Given the description of an element on the screen output the (x, y) to click on. 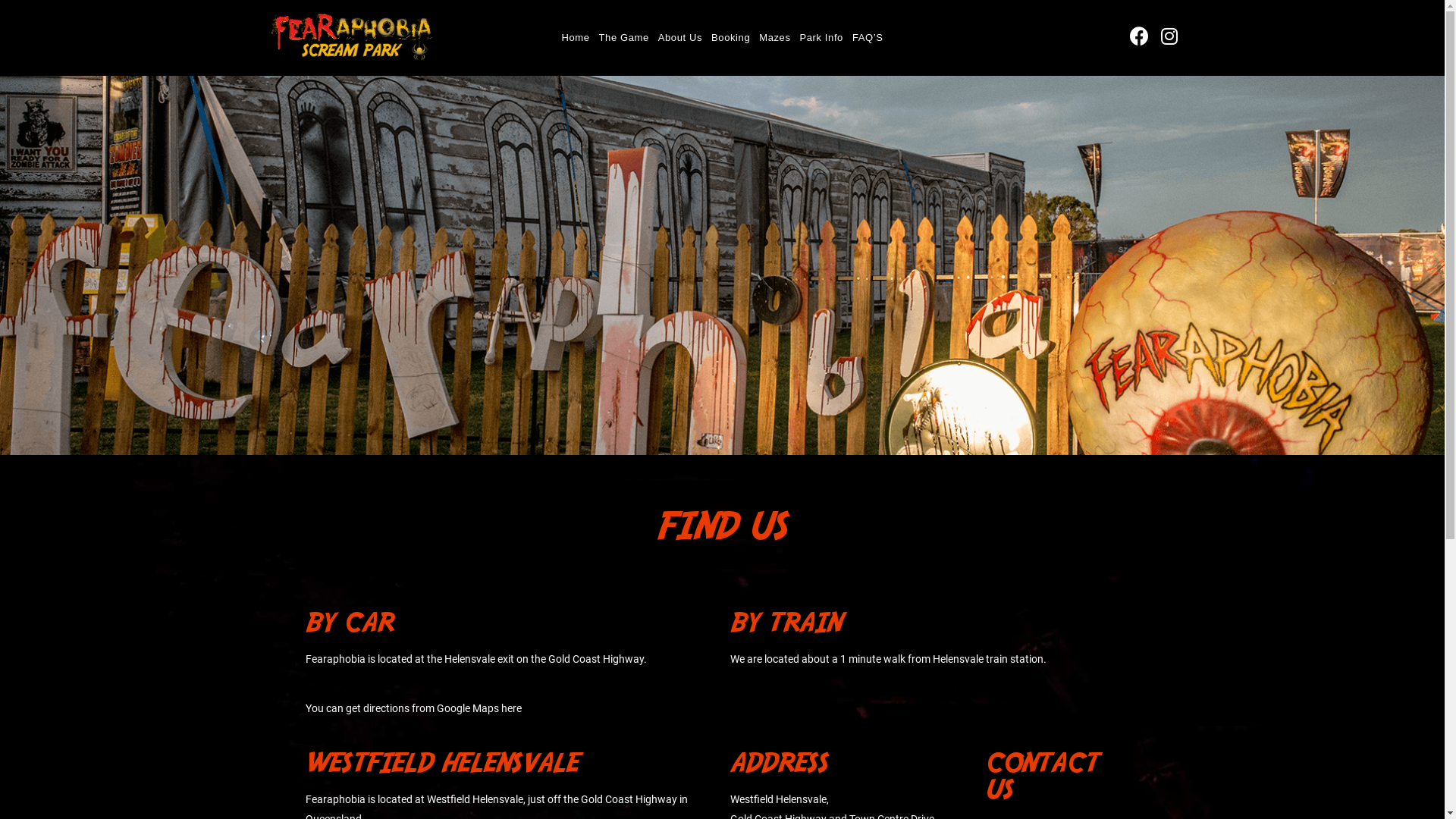
The Game Element type: text (623, 37)
About Us Element type: text (679, 37)
Park Info Element type: text (821, 37)
Home Element type: text (574, 37)
Mazes Element type: text (774, 37)
Booking Element type: text (730, 37)
